Given the description of an element on the screen output the (x, y) to click on. 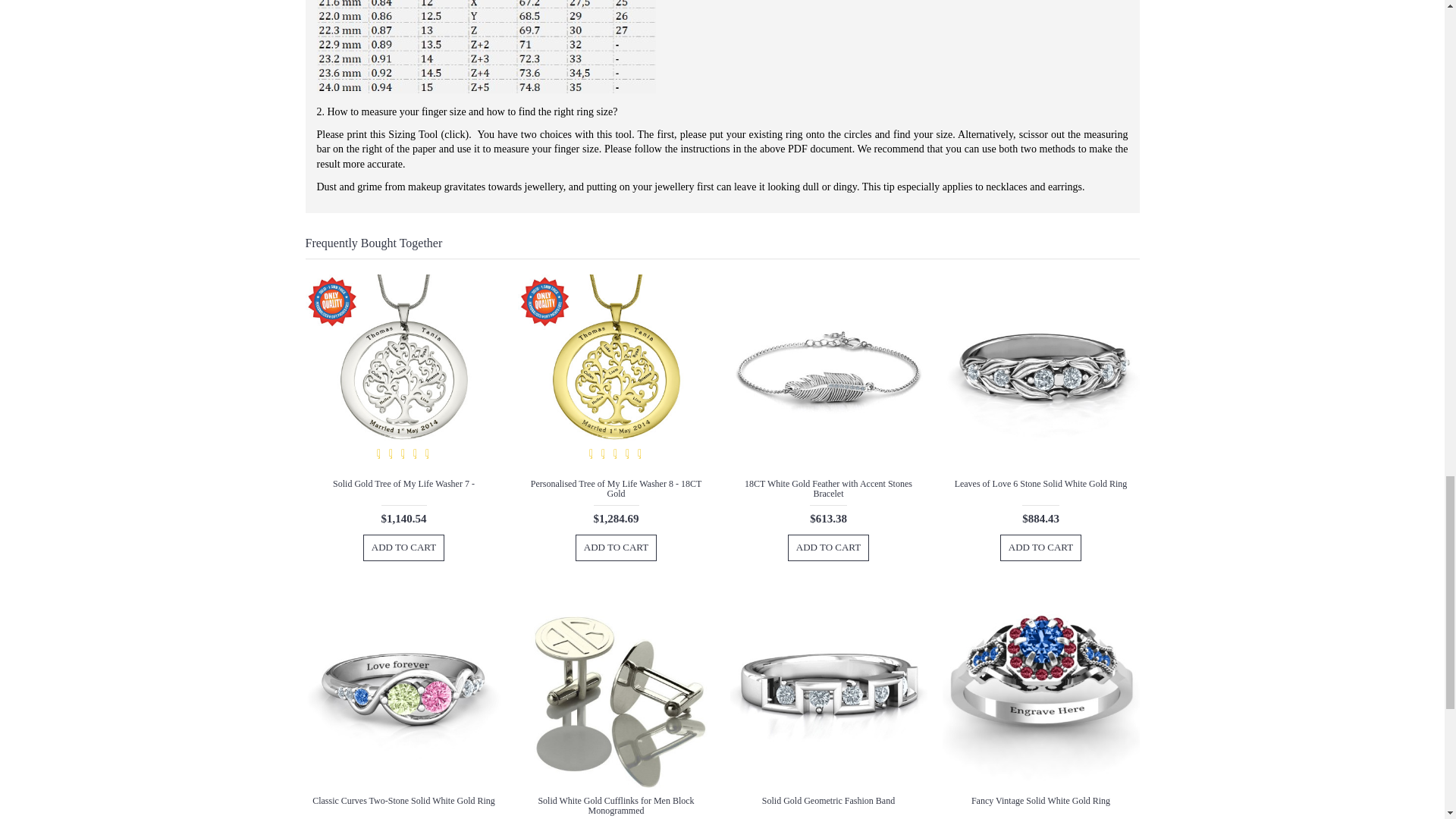
18CT White Gold Feather with Accent Stones Bracelet (827, 372)
Solid Gold Tree of My Life Washer 7 - (403, 372)
Personalised Tree of My Life Washer 8 - 18CT Gold (615, 372)
Fancy Vintage Solid White Gold Ring (1040, 689)
Solid White Gold Cufflinks for Men Block Monogrammed (615, 689)
Classic Curves Two-Stone Solid White Gold Ring (403, 689)
Solid Gold Geometric Fashion Band (827, 689)
Leaves of Love 6 Stone Solid White Gold Ring (1040, 372)
